Given the description of an element on the screen output the (x, y) to click on. 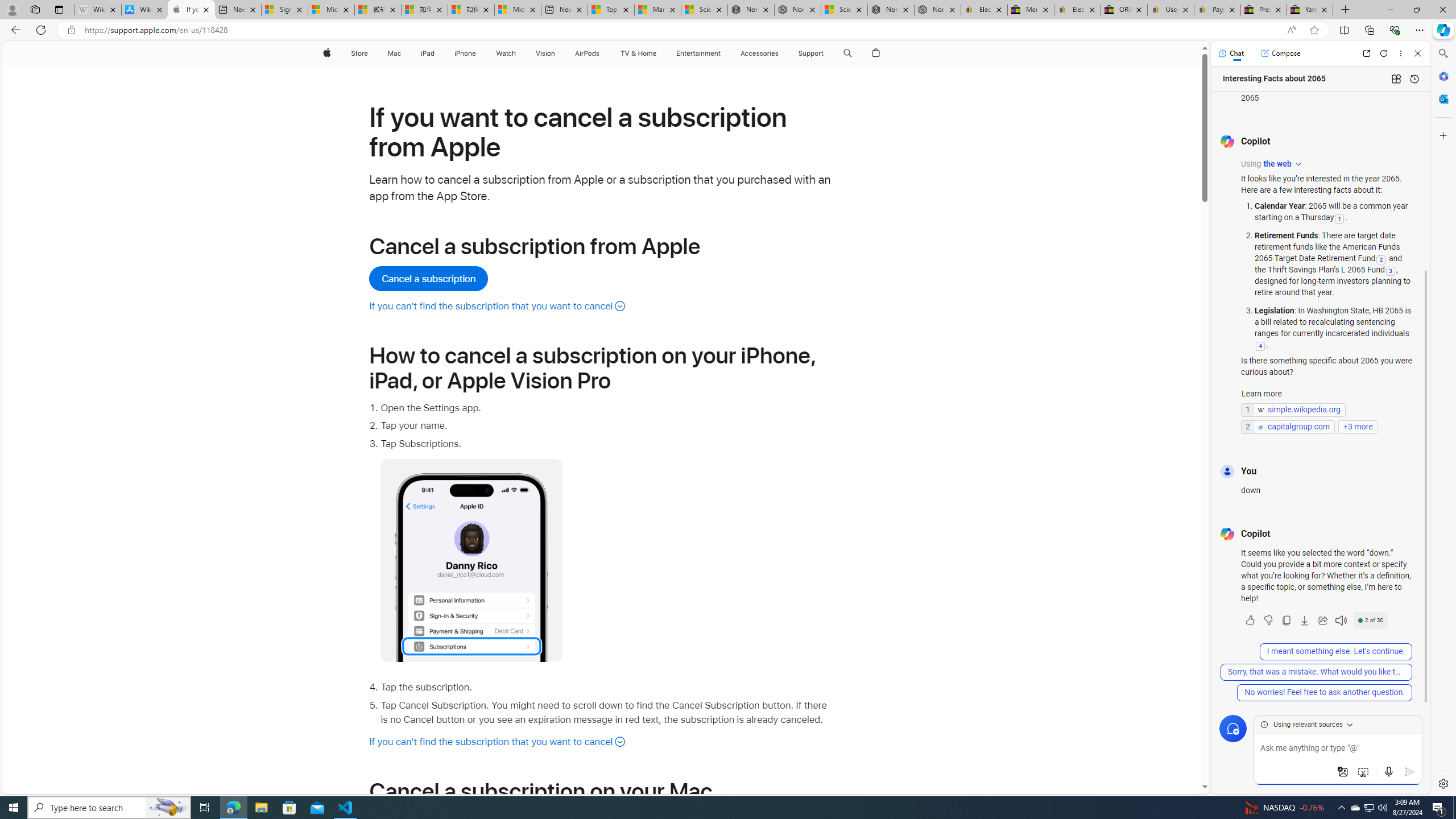
Apple (325, 53)
iPhone (464, 53)
Vision (545, 53)
Shopping Bag (876, 53)
AirPods (587, 53)
Vision menu (557, 53)
Tap your name. (607, 425)
